Given the description of an element on the screen output the (x, y) to click on. 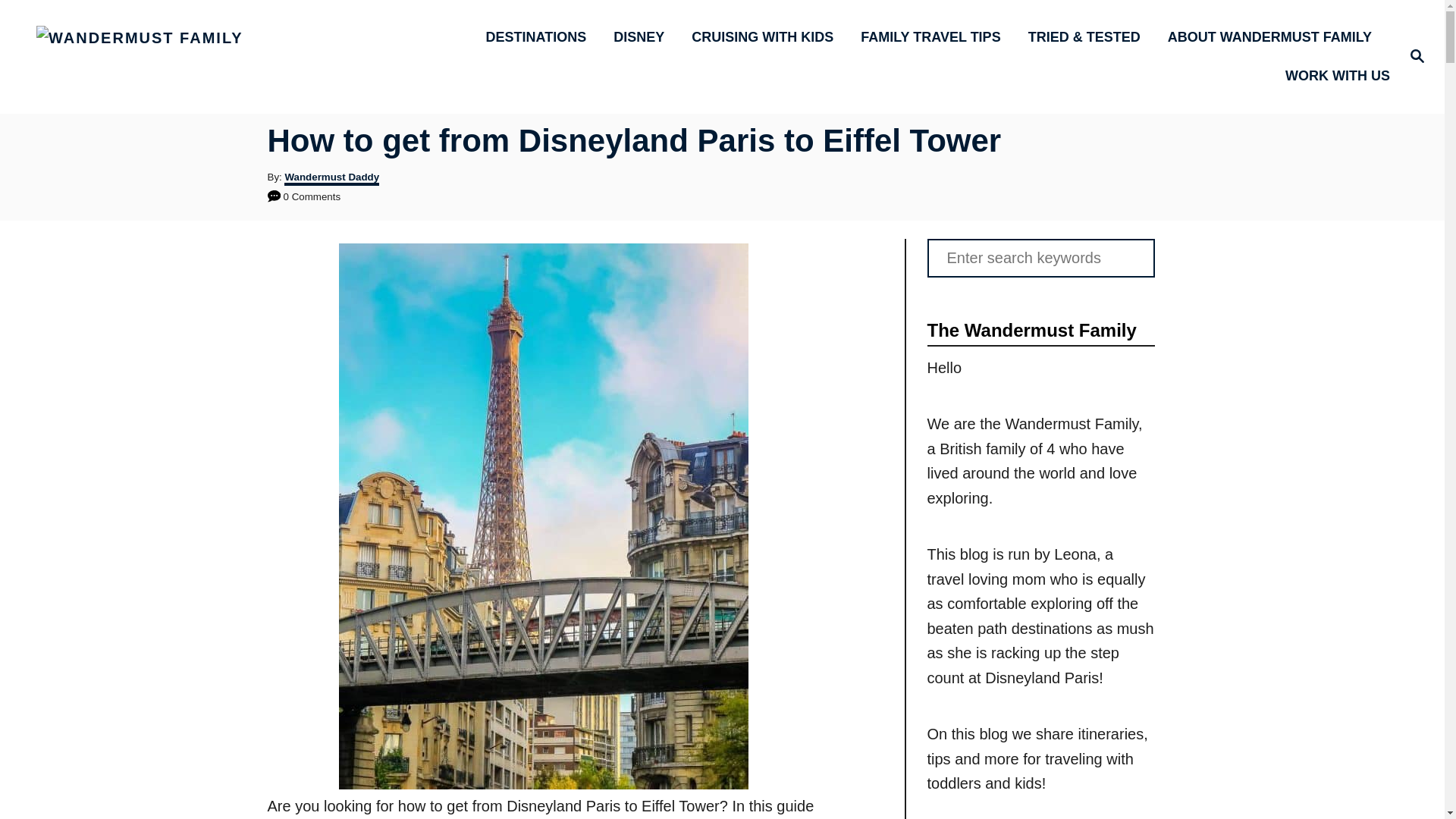
Wandermust Family (204, 56)
Magnifying Glass (1416, 55)
DESTINATIONS (541, 37)
